Given the description of an element on the screen output the (x, y) to click on. 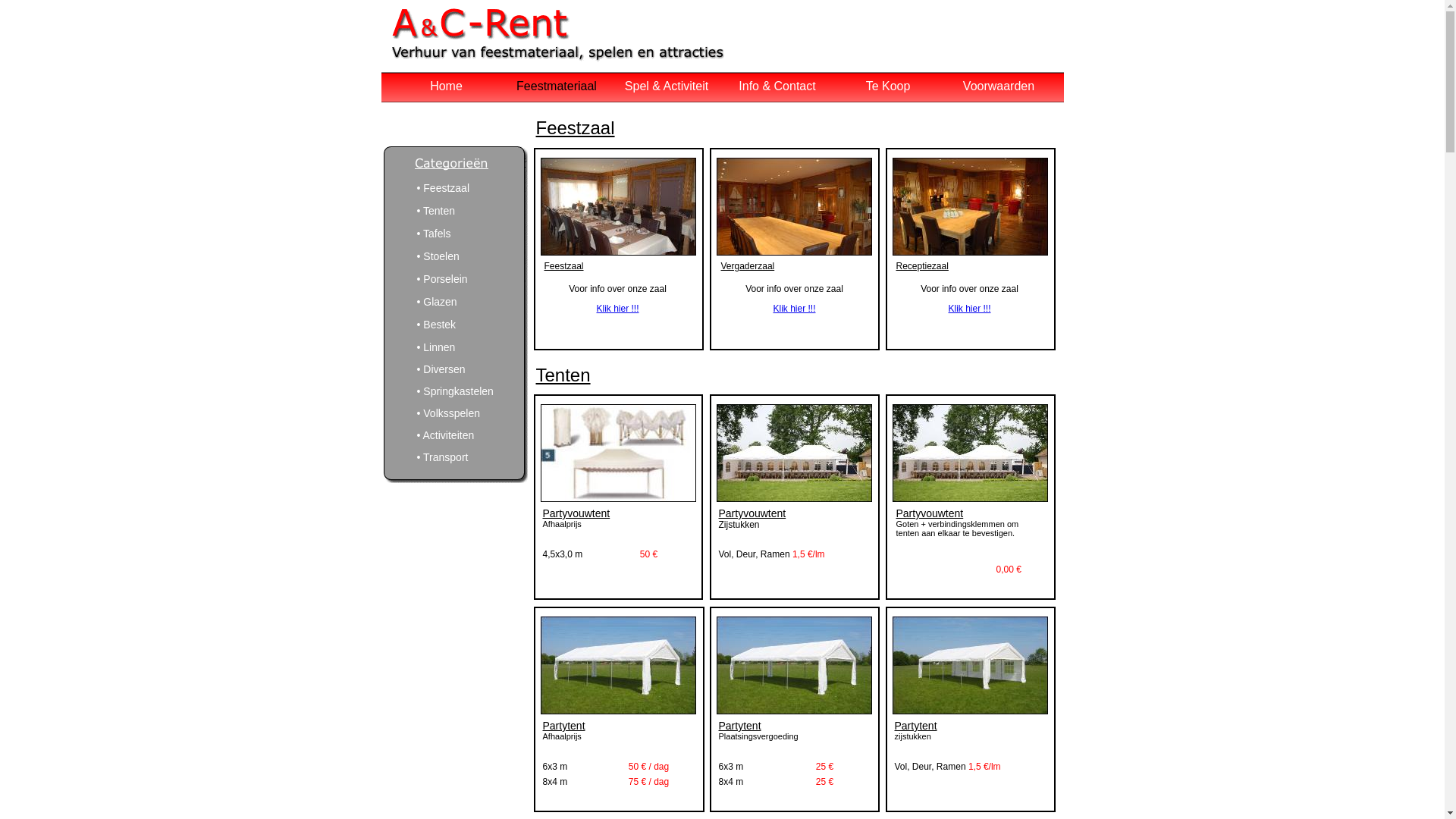
Info & Contact Element type: text (776, 85)
Klik hier !!! Element type: text (617, 308)
Home Element type: text (445, 85)
Klik hier !!! Element type: text (793, 308)
Te Koop Element type: text (888, 85)
Voorwaarden Element type: text (998, 85)
Spel & Activiteit Element type: text (666, 85)
Klik hier !!! Element type: text (968, 308)
